Given the description of an element on the screen output the (x, y) to click on. 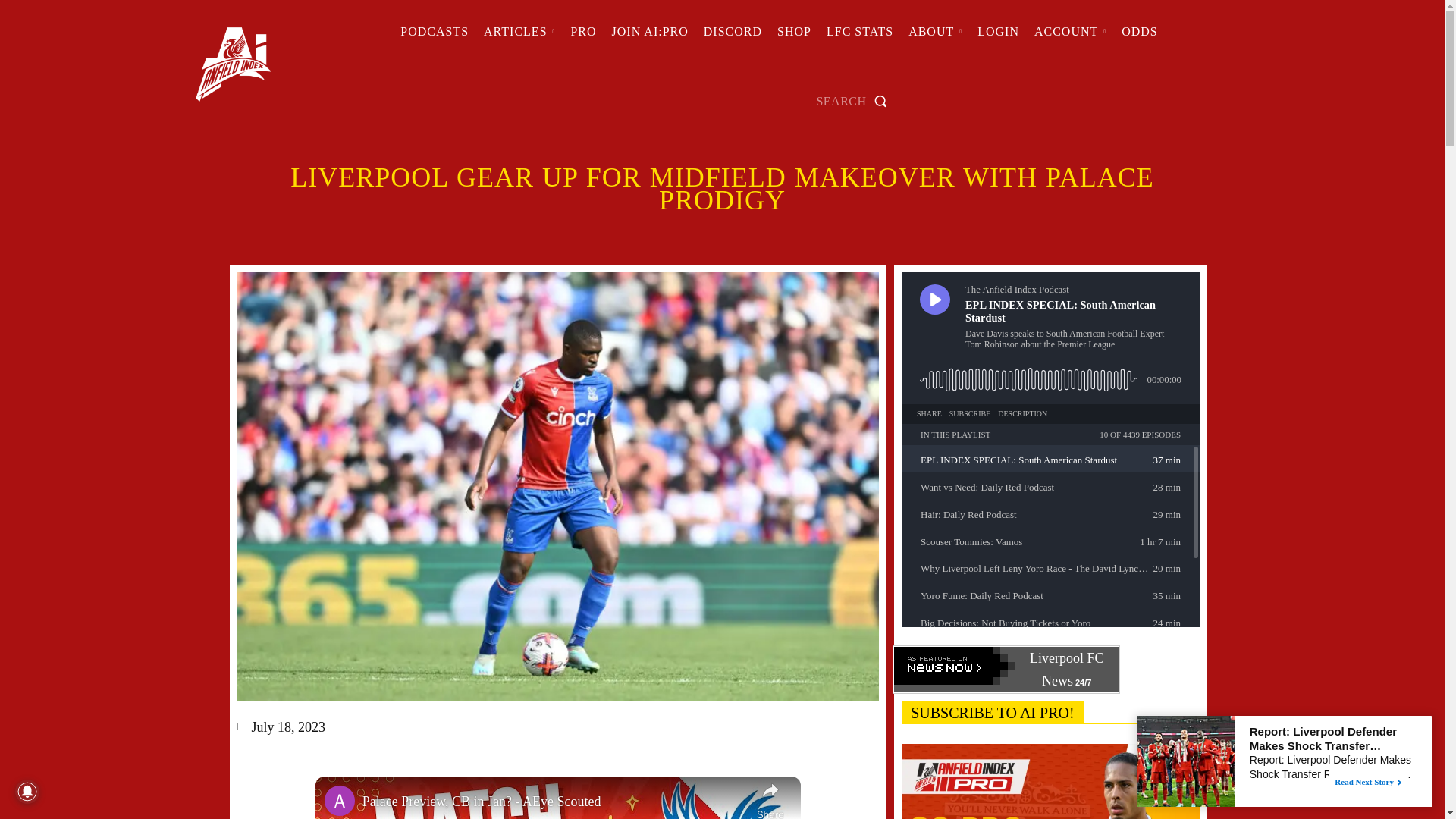
LFC STATS (859, 31)
PODCASTS (434, 31)
ARTICLES (519, 31)
PRO (583, 31)
DISCORD (732, 31)
ABOUT (935, 31)
Check out Empire Of The Kop! (732, 31)
SHOP (794, 31)
JOIN AI:PRO (649, 31)
